Given the description of an element on the screen output the (x, y) to click on. 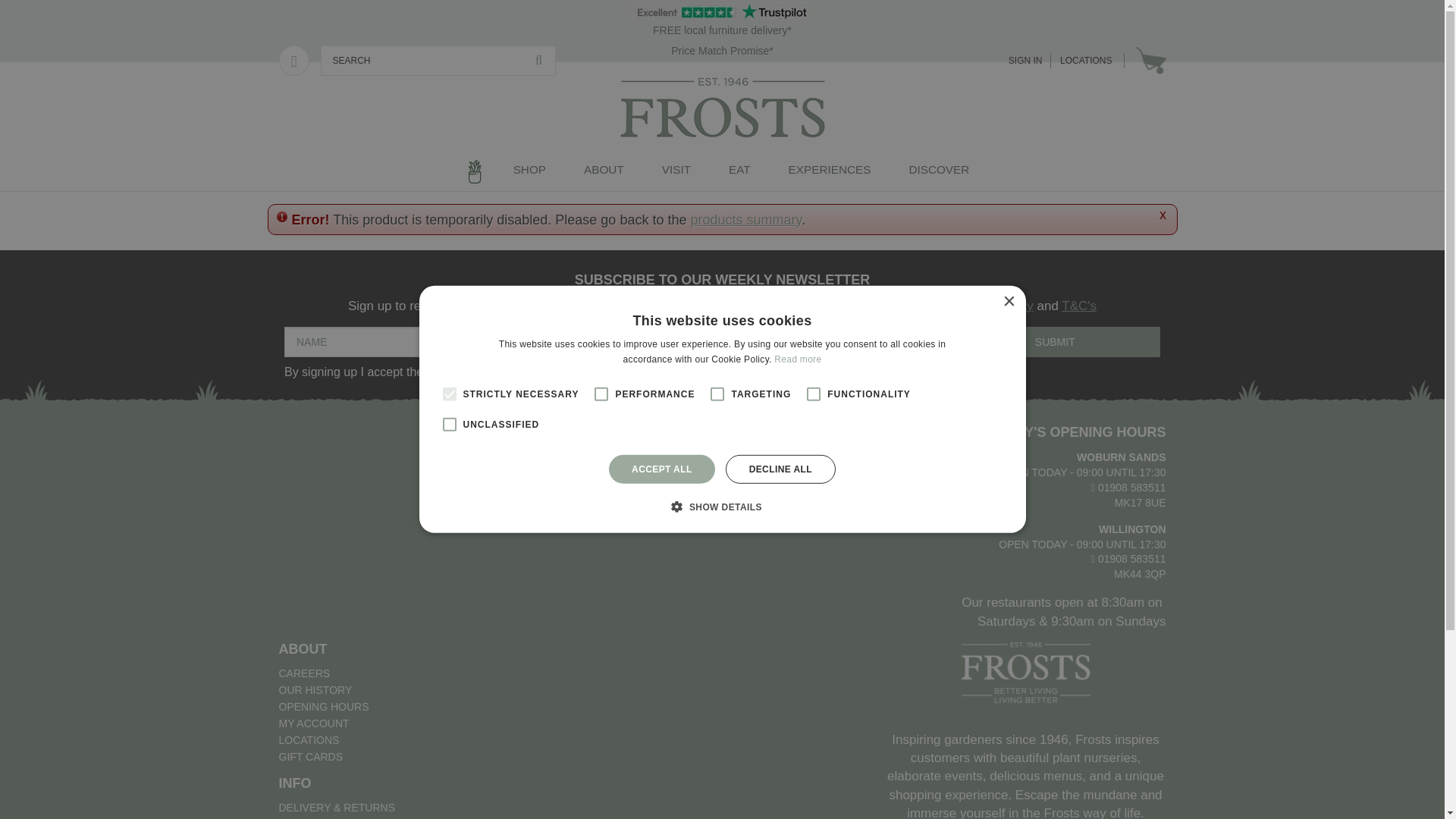
LOCATIONS (1085, 60)
Search (538, 60)
LOCATIONS (1085, 60)
Home (290, 160)
Frosts Garden Centres (721, 107)
HOME (290, 160)
SHOP (529, 171)
Submit (1054, 341)
1 (513, 373)
Sign in (1025, 60)
Phone (293, 60)
Go to the shopping trolley (1150, 60)
Home (476, 171)
SIGN IN (1025, 60)
SHOP (529, 171)
